Given the description of an element on the screen output the (x, y) to click on. 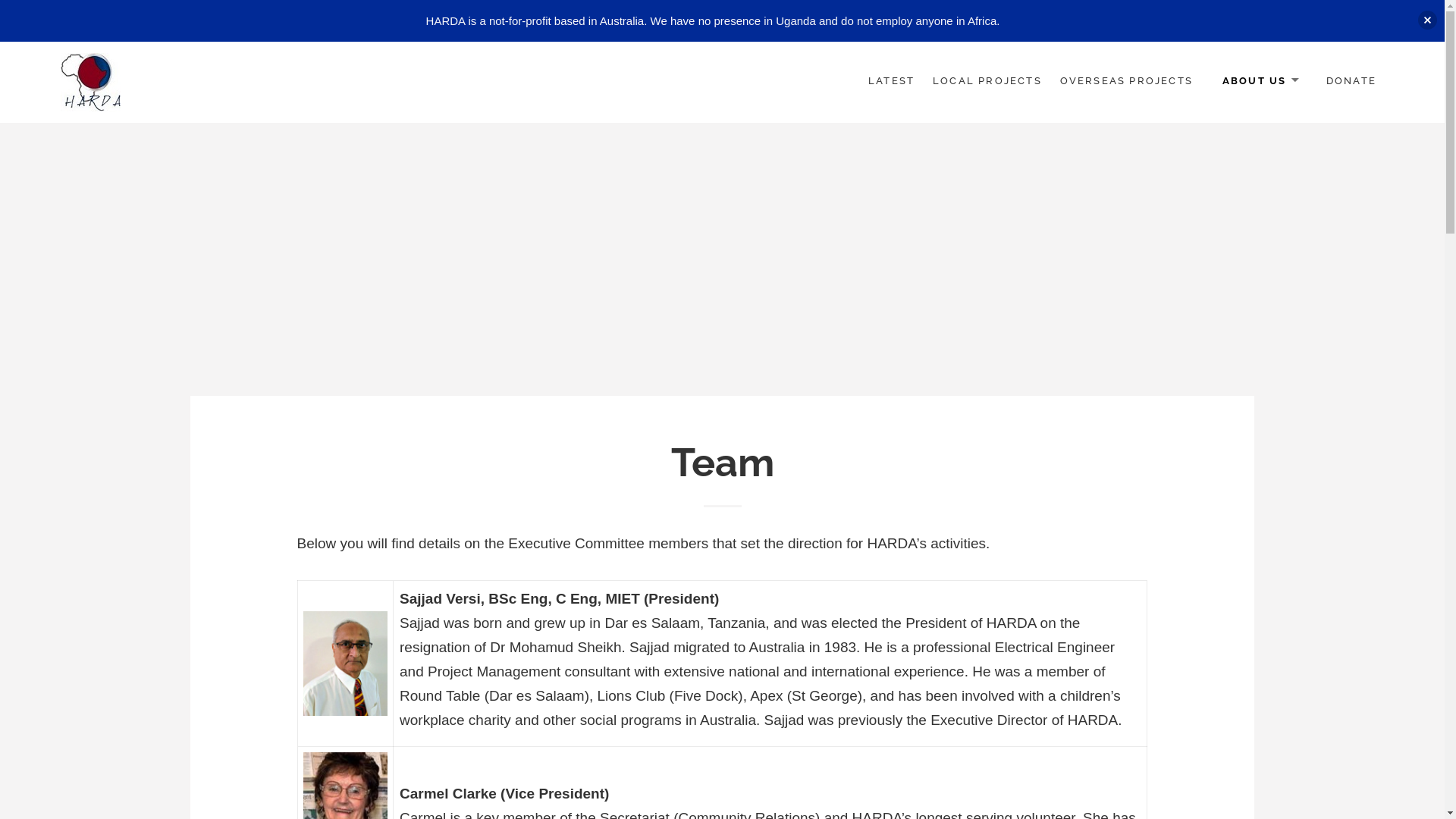
LATEST Element type: text (891, 81)
ABOUT US Element type: text (1259, 81)
DONATE Element type: text (1351, 81)
OVERSEAS PROJECTS Element type: text (1126, 81)
LOCAL PROJECTS Element type: text (986, 81)
